Given the description of an element on the screen output the (x, y) to click on. 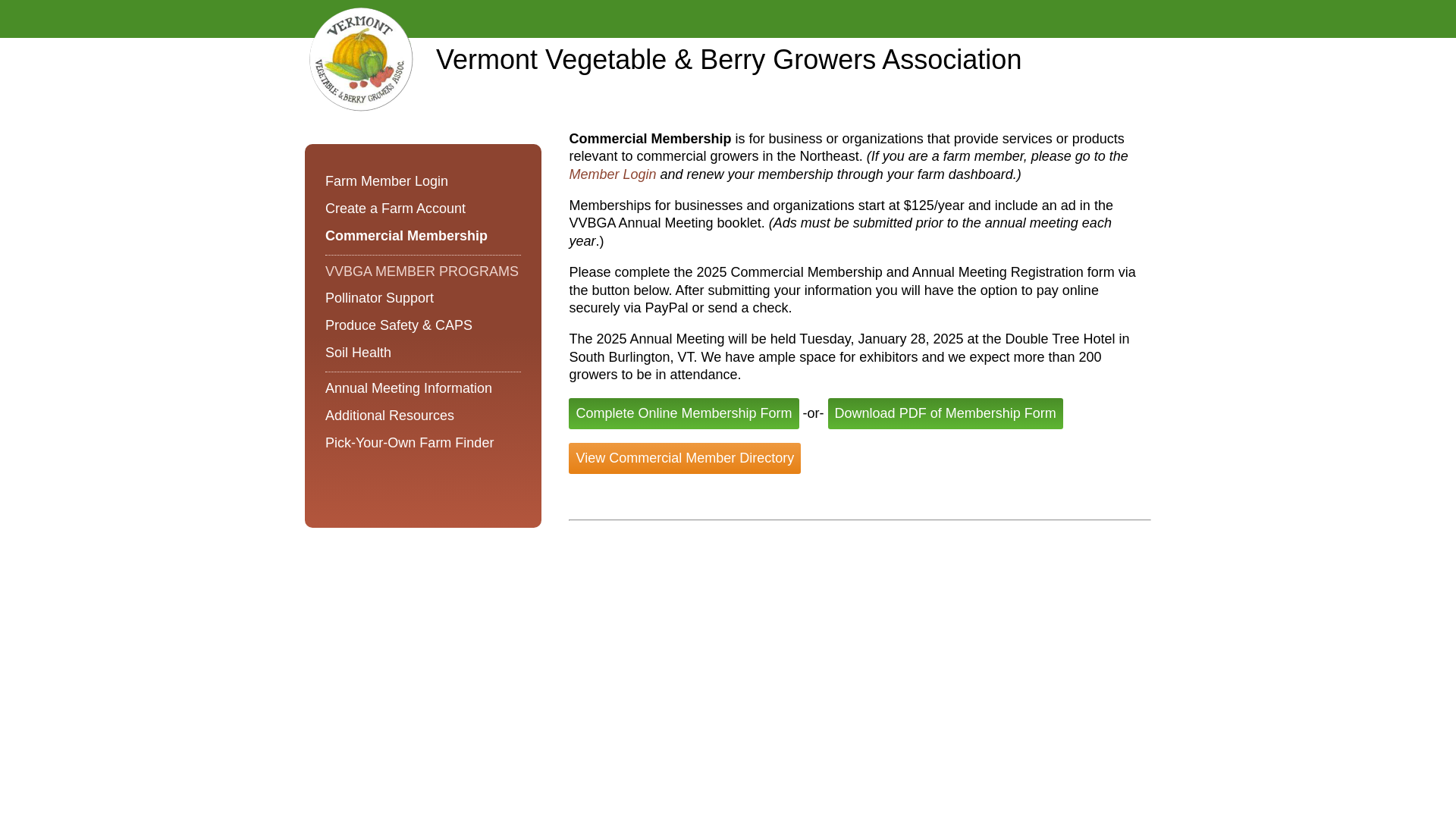
Additional Resources (422, 416)
Annual Meeting Information (422, 389)
Complete Online Membership Form (683, 413)
Pick-Your-Own Farm Finder (422, 443)
Download PDF of Membership Form (945, 413)
Pollinator Support (422, 298)
Member Login (614, 174)
Create a Farm Account (422, 209)
Soil Health (422, 353)
